Given the description of an element on the screen output the (x, y) to click on. 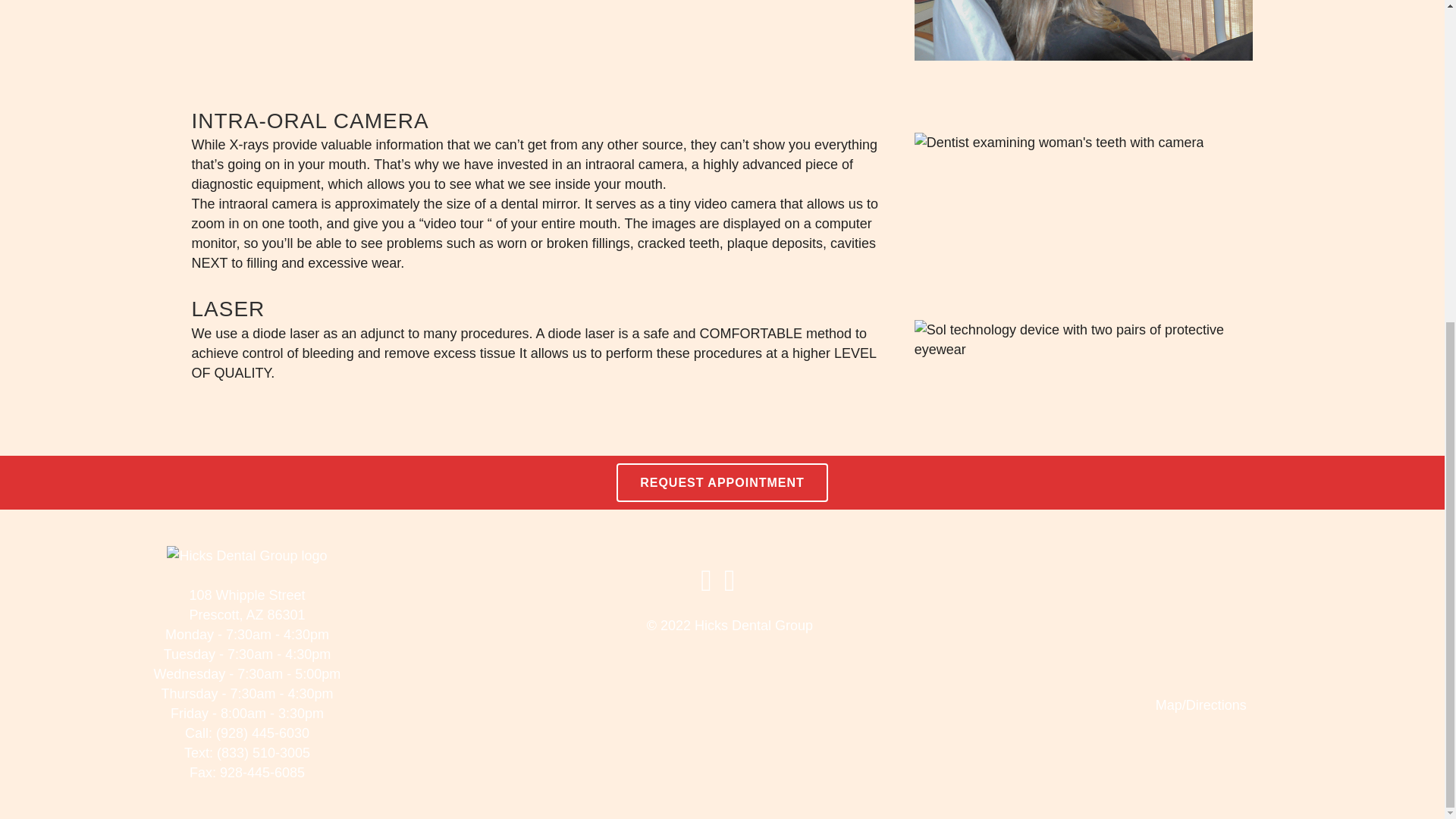
xray - two people looking at a colored xray of teeth (1083, 29)
Dentist examining woman's teeth with camera (1059, 142)
Sol technology device with two pairs of protective eyewear (1083, 339)
